Given the description of an element on the screen output the (x, y) to click on. 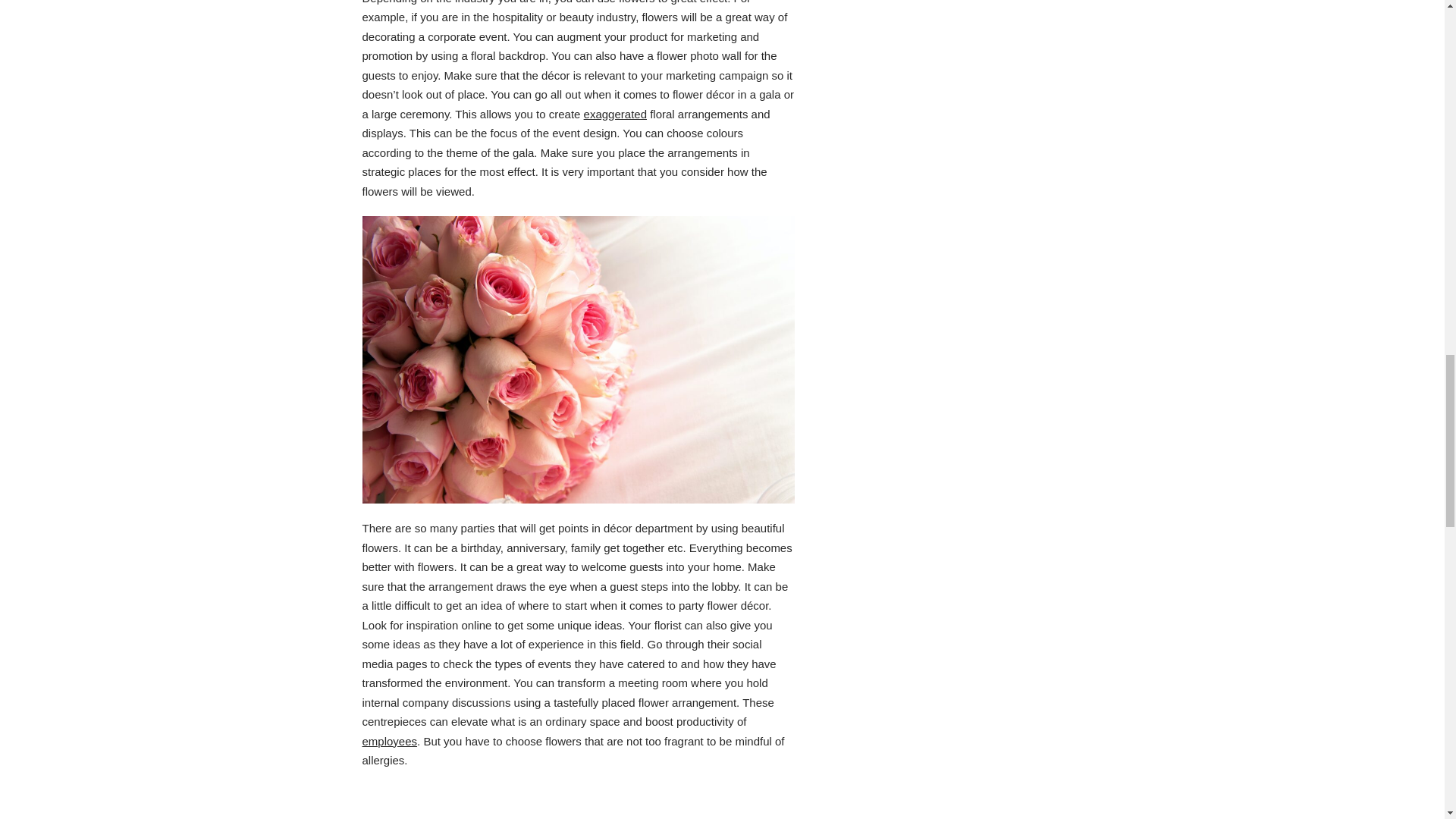
Techniques  To Become a Top Floral Designer (578, 806)
exaggerated (614, 113)
employees (389, 740)
